Given the description of an element on the screen output the (x, y) to click on. 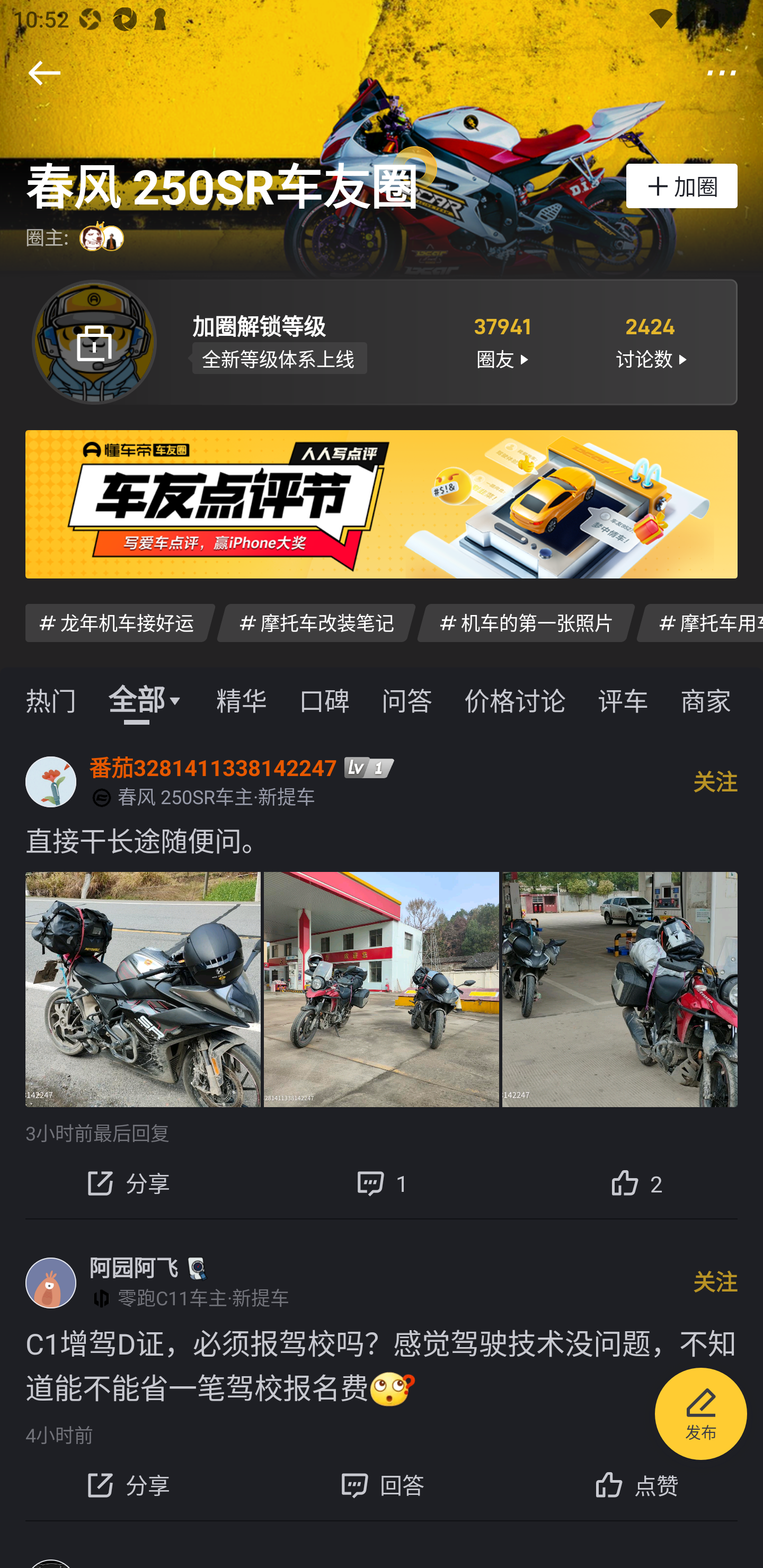
 (44, 72)
 (721, 72)
圈主: (76, 238)
加圈解锁等级 全新等级体系上线 (307, 341)
37941 圈友 (501, 341)
2424 讨论数 (650, 341)
 龙年机车接好运 (120, 622)
 摩托车改装笔记 (315, 622)
 机车的第一张照片 (525, 622)
 摩托车用车感受 (699, 622)
热门 (50, 698)
全部  (146, 698)
精华 (241, 698)
口碑 (324, 698)
问答 (406, 698)
价格讨论 (514, 698)
评车 (622, 698)
商家 (705, 698)
番茄3281411338142247 (213, 767)
关注 (714, 781)
直接干长途随便问。 (381, 839)
 分享 (127, 1182)
 1 (381, 1182)
2 (635, 1182)
2 (635, 1182)
阿园阿飞 (133, 1268)
关注 (714, 1282)
C1增驾D证，必须报驾校吗？感觉驾驶技术没问题，不知道能不能省一笔驾校报名费[what] (381, 1365)
 发布 (701, 1416)
 分享 (127, 1485)
 回答 (381, 1485)
点赞 (635, 1485)
